Given the description of an element on the screen output the (x, y) to click on. 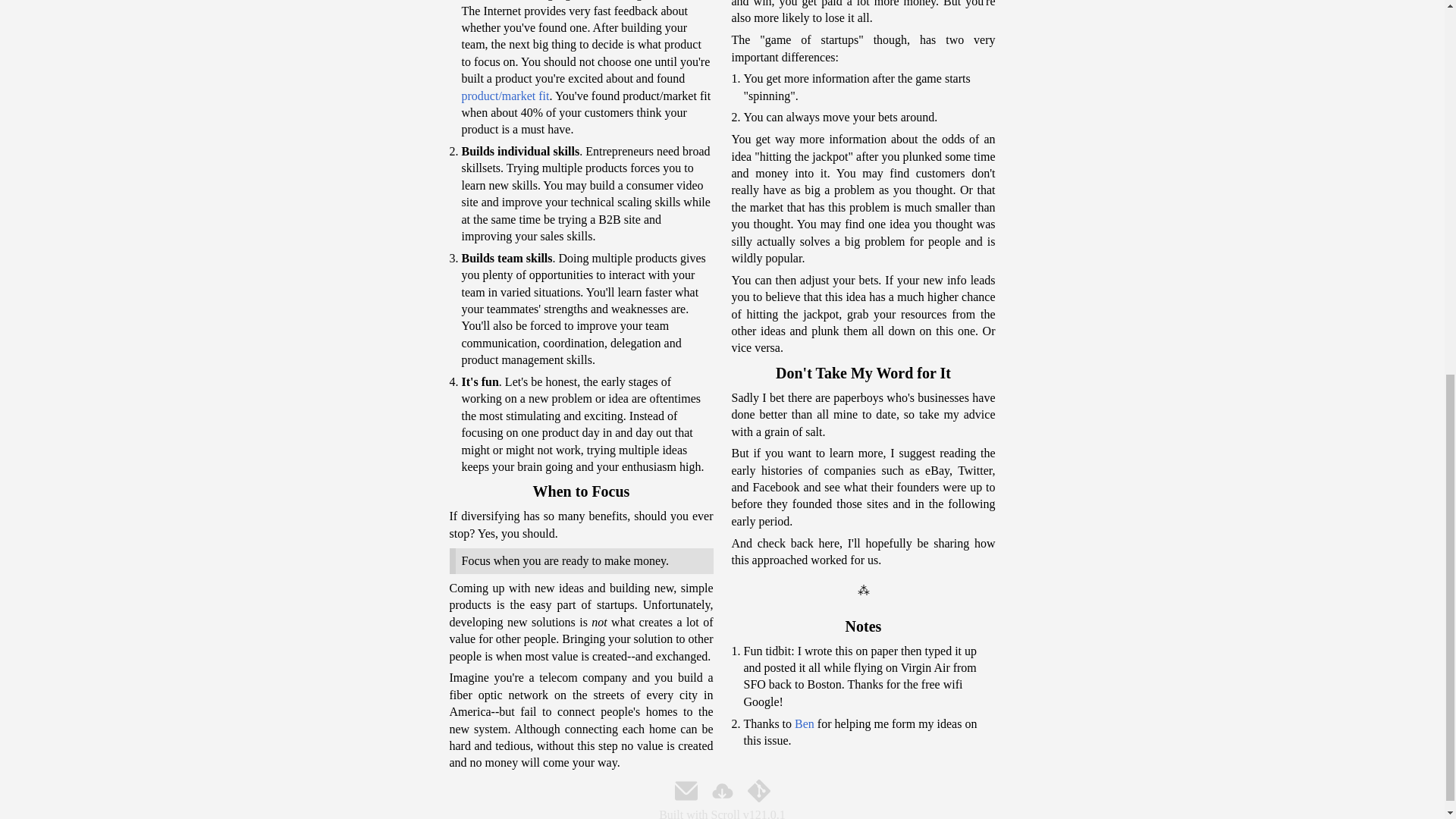
Don't Take My Word for It (862, 373)
Notes (862, 626)
Focus when you are ready to make money. (580, 560)
